Given the description of an element on the screen output the (x, y) to click on. 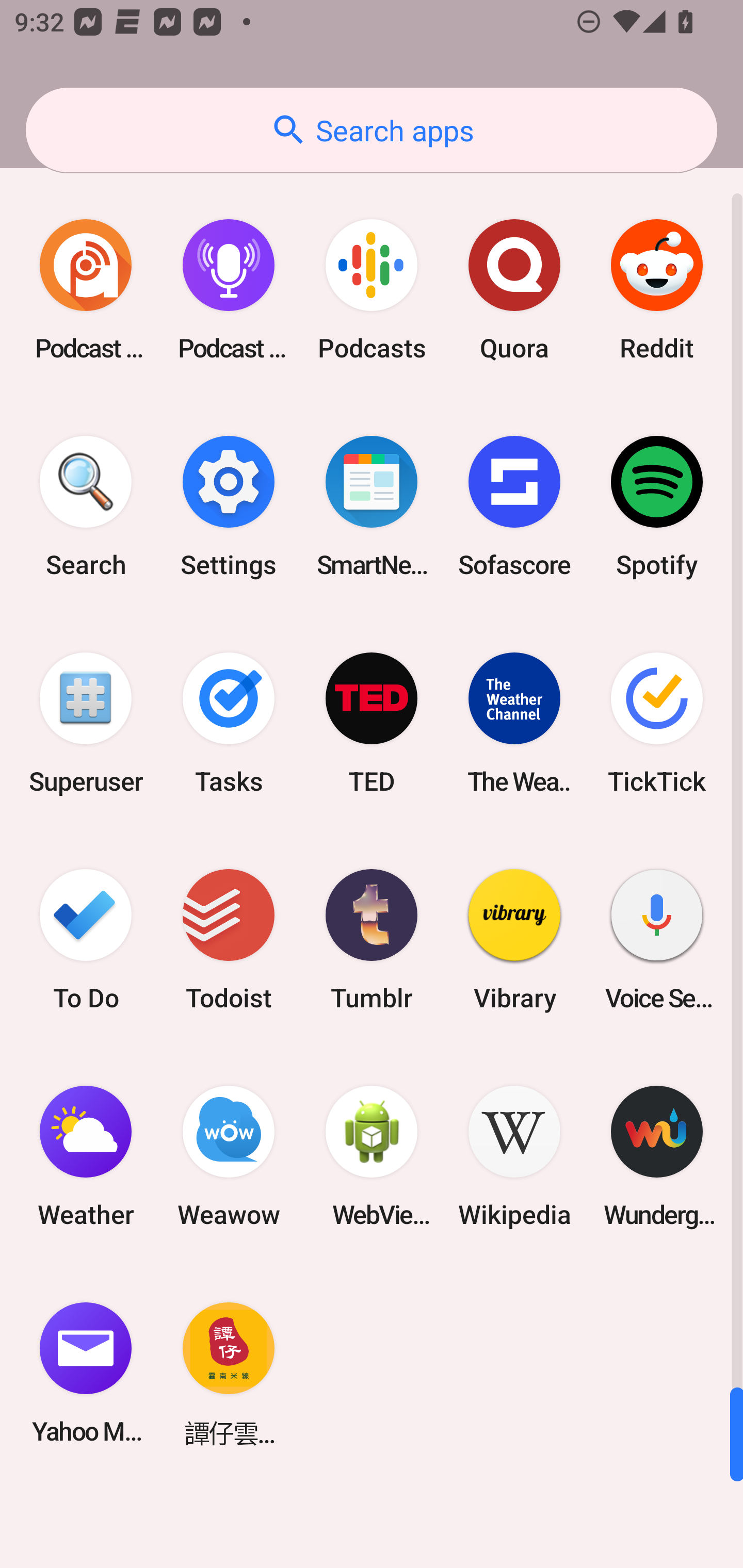
  Search apps (371, 130)
Podcast Addict (85, 289)
Podcast Player (228, 289)
Podcasts (371, 289)
Quora (514, 289)
Reddit (656, 289)
Search (85, 506)
Settings (228, 506)
SmartNews (371, 506)
Sofascore (514, 506)
Spotify (656, 506)
Superuser (85, 722)
Tasks (228, 722)
TED (371, 722)
The Weather Channel (514, 722)
TickTick (656, 722)
To Do (85, 939)
Todoist (228, 939)
Tumblr (371, 939)
Vibrary (514, 939)
Voice Search (656, 939)
Weather (85, 1156)
Weawow (228, 1156)
WebView Browser Tester (371, 1156)
Wikipedia (514, 1156)
Wunderground (656, 1156)
Yahoo Mail (85, 1373)
譚仔雲南米線 (228, 1373)
